Given the description of an element on the screen output the (x, y) to click on. 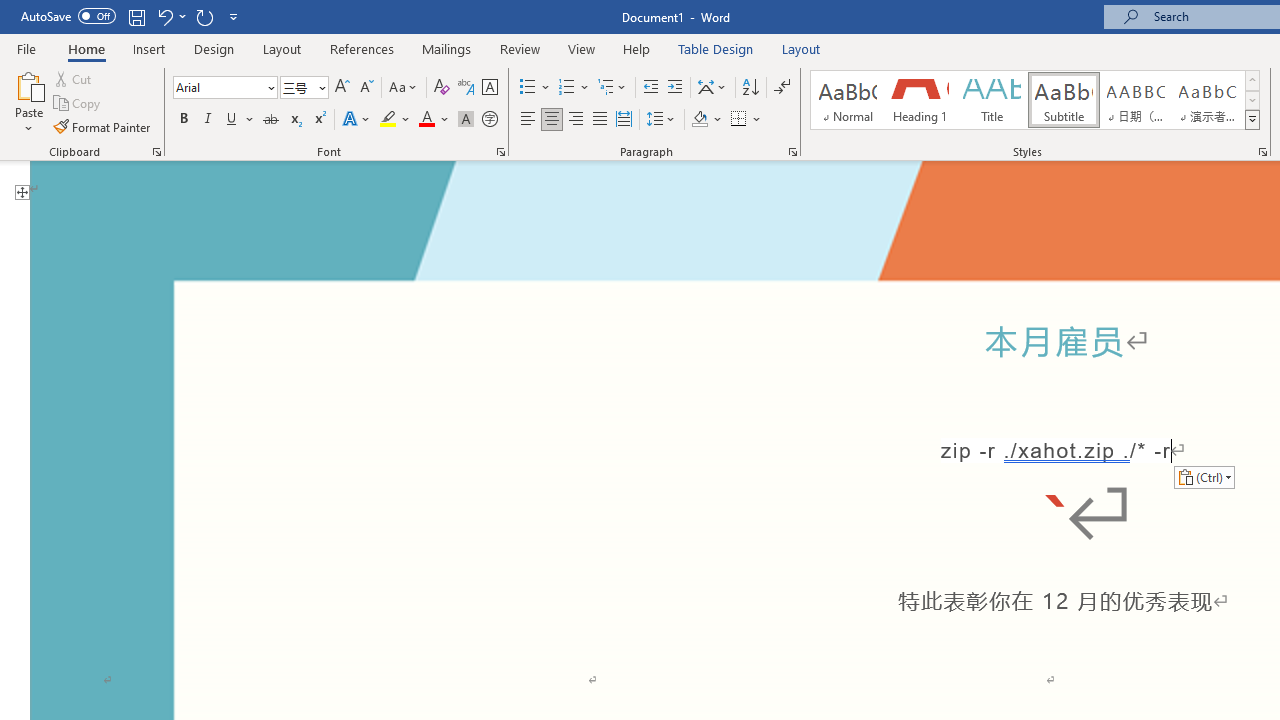
Center (552, 119)
Font Color Red (426, 119)
Font... (500, 151)
Enclose Characters... (489, 119)
Change Case (404, 87)
Superscript (319, 119)
Table Design (715, 48)
Italic (207, 119)
Cut (73, 78)
Character Shading (465, 119)
